Given the description of an element on the screen output the (x, y) to click on. 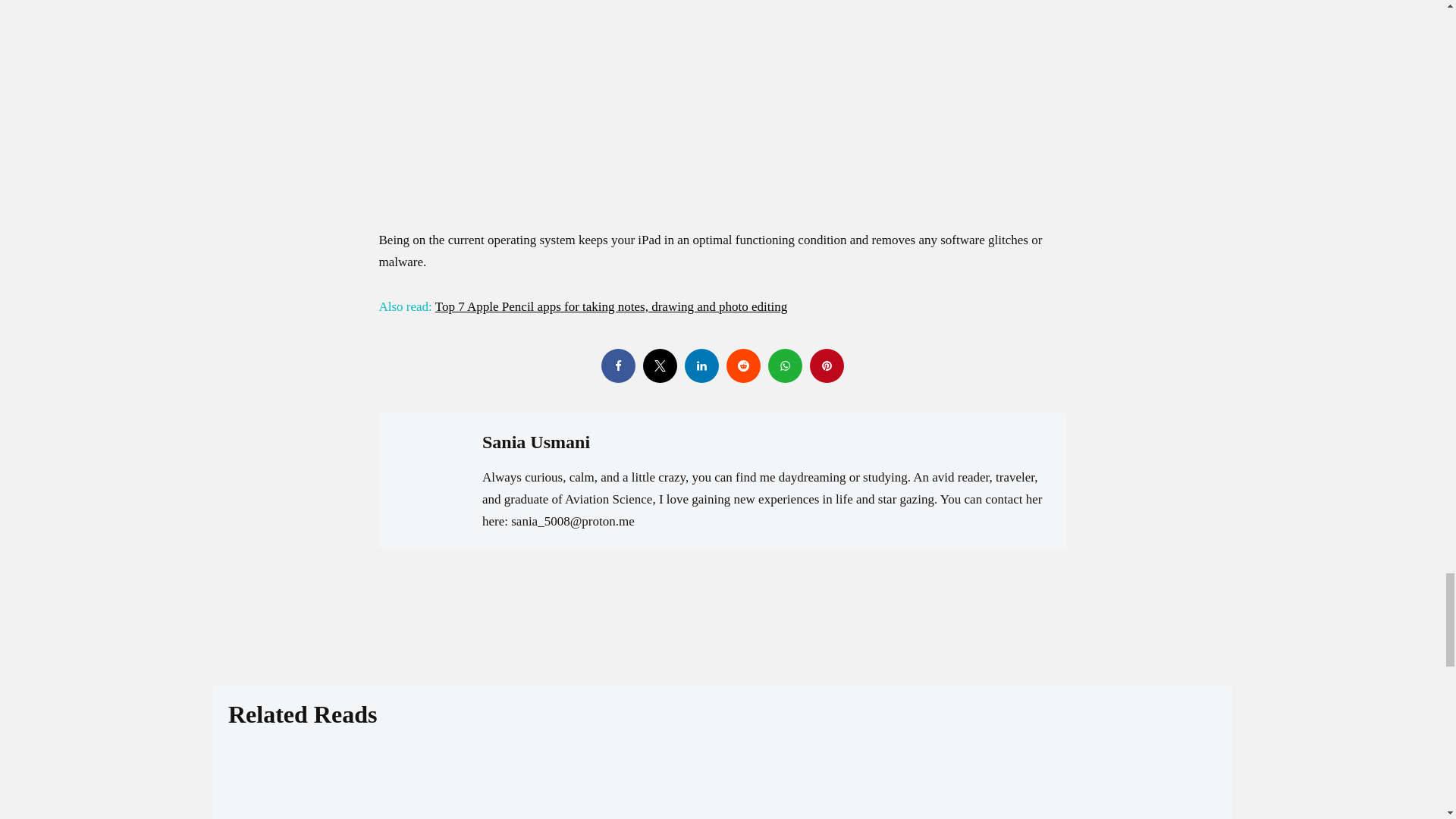
Pinterest (826, 365)
Reddit (743, 365)
Linkedin (700, 365)
Facebook (616, 365)
Whatsapp (784, 365)
Twitter (660, 365)
